Given the description of an element on the screen output the (x, y) to click on. 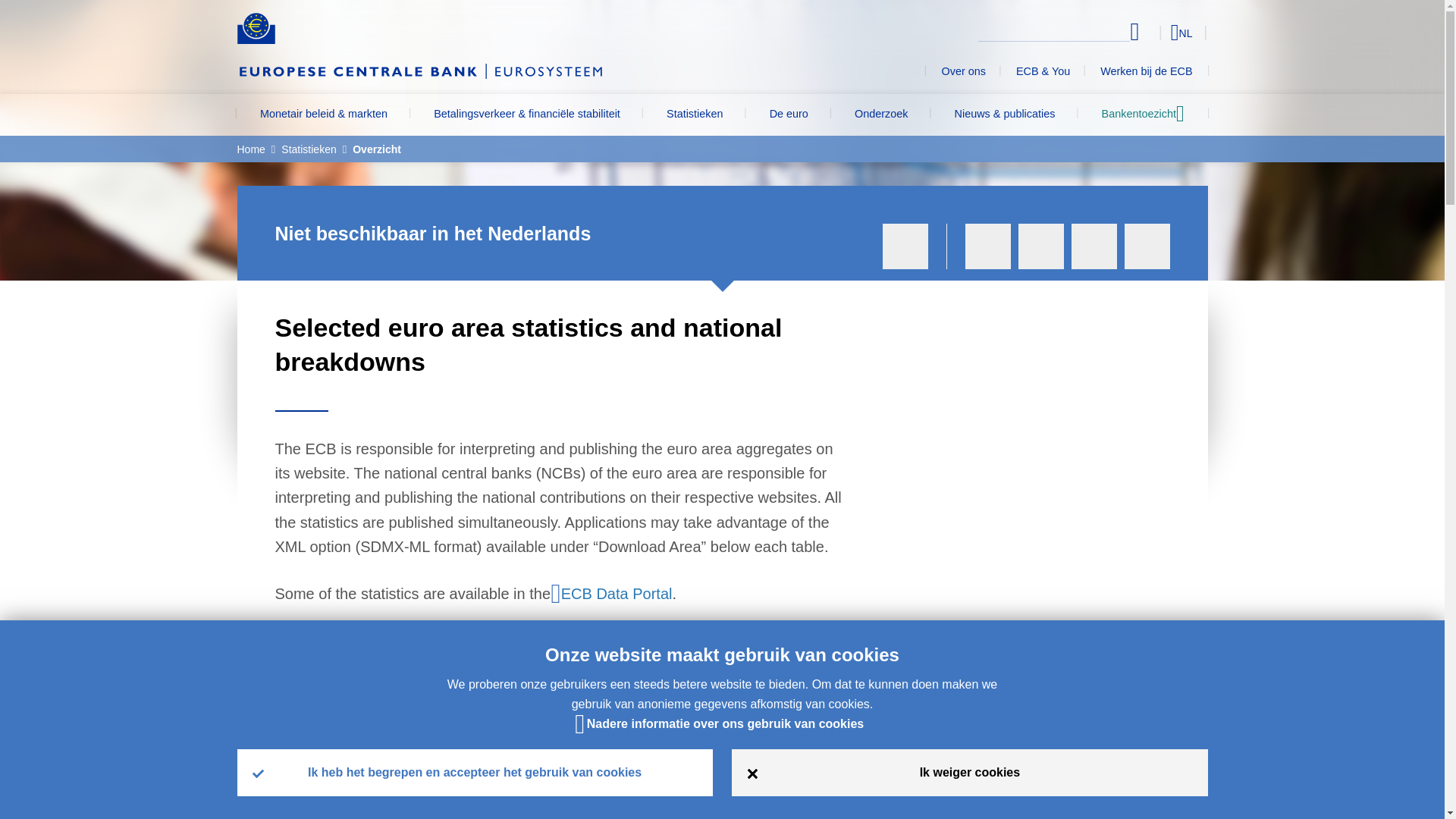
Select language (1153, 32)
